Given the description of an element on the screen output the (x, y) to click on. 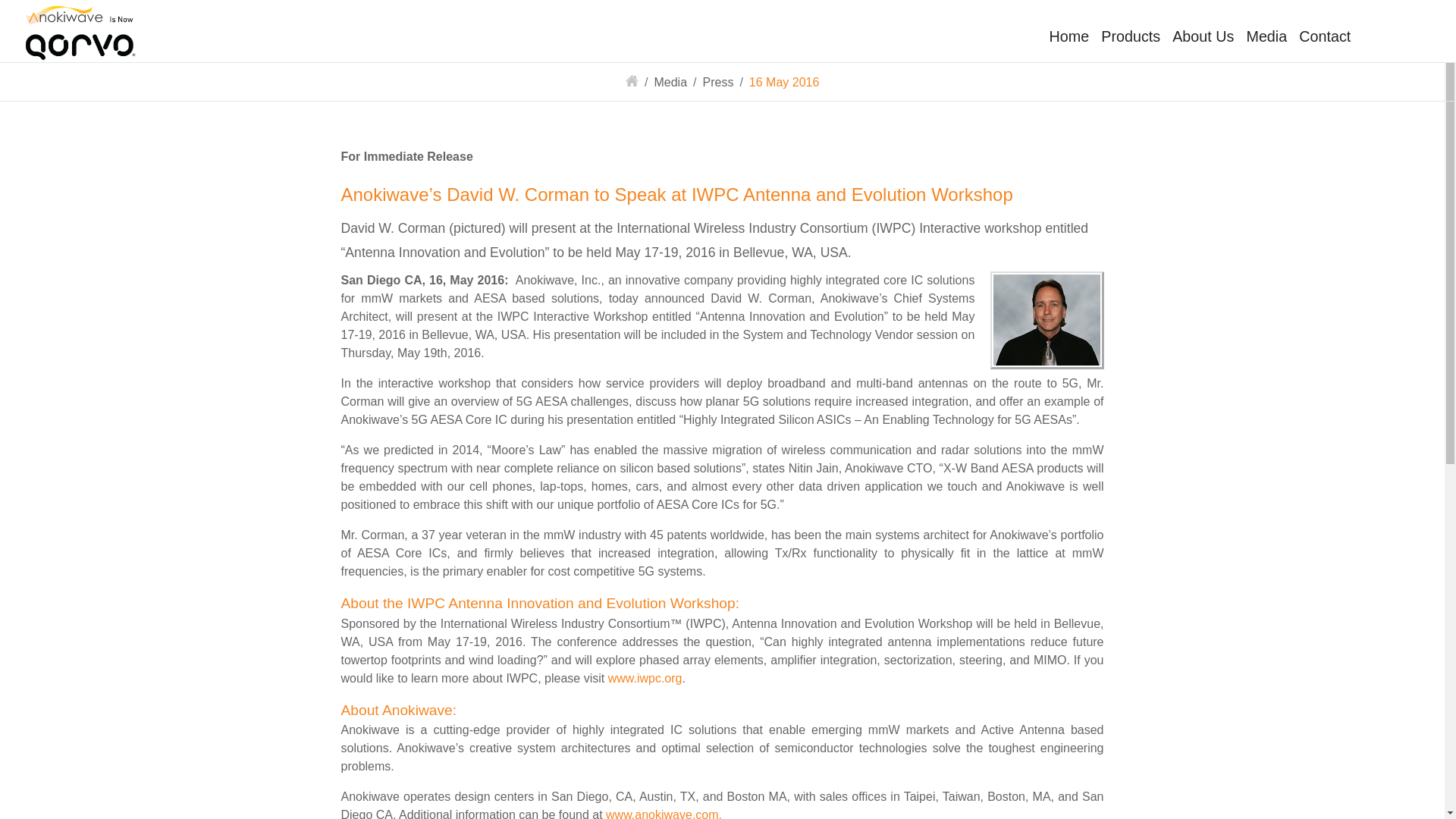
Press (717, 82)
Contact (1324, 36)
www.iwpc.org (645, 677)
David W. Corman, Chief Architect (1046, 320)
Products (1130, 36)
Home (1069, 36)
Media (1266, 36)
Media (670, 82)
About Us (1203, 36)
16 May 2016 (784, 82)
www.anokiwave.com. (663, 813)
